Given the description of an element on the screen output the (x, y) to click on. 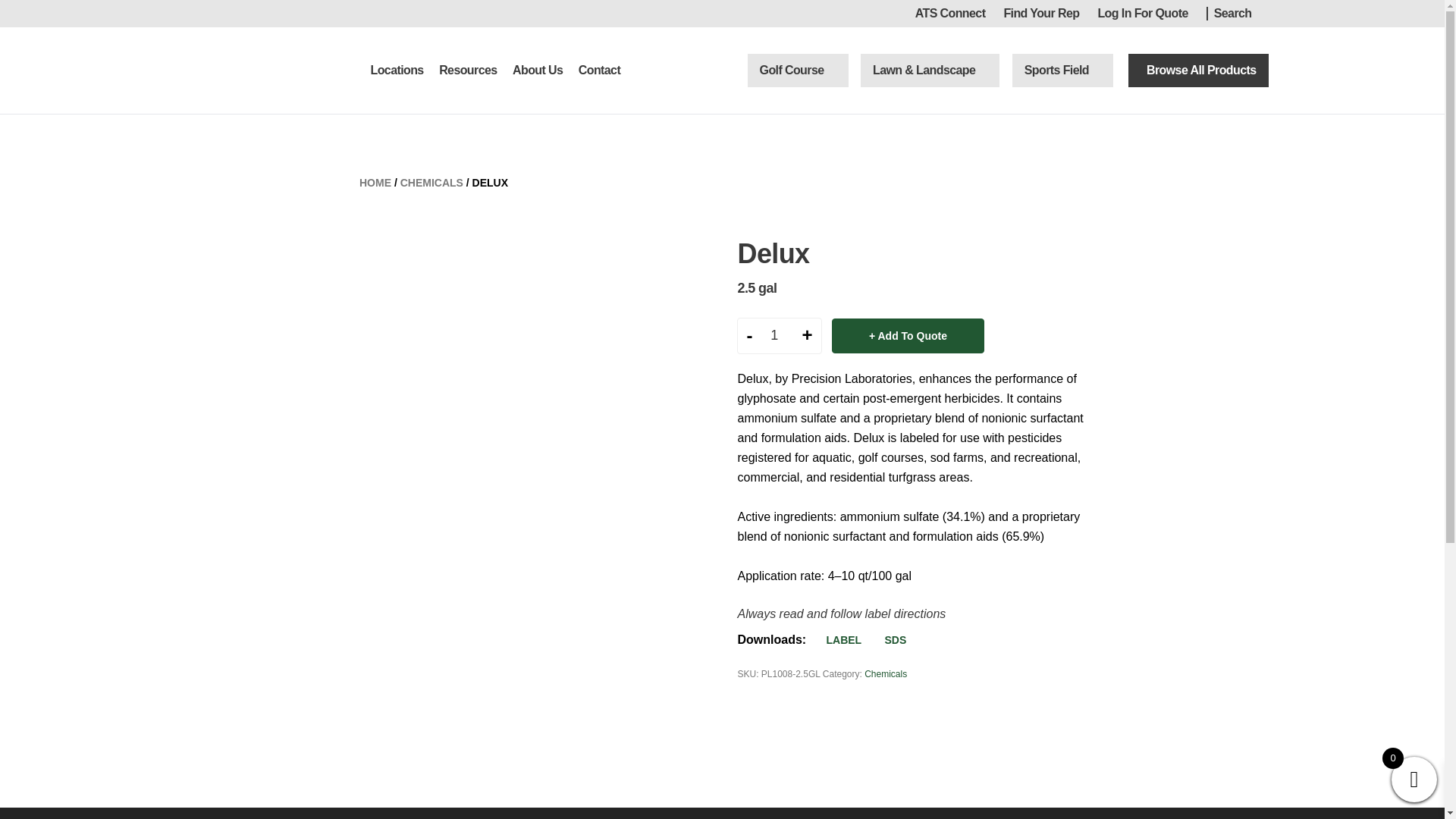
Resources (467, 69)
Log In For Quote (1142, 13)
Golf Course (792, 69)
Sports Field (1057, 69)
CHEMICALS (431, 182)
1 (779, 335)
Search (1237, 13)
LABEL (835, 639)
About Us (537, 69)
ATS Connect (950, 13)
HOME (375, 182)
Find Your Rep (1040, 13)
Contact (599, 69)
Browse All Products (1198, 70)
Locations (396, 69)
